Given the description of an element on the screen output the (x, y) to click on. 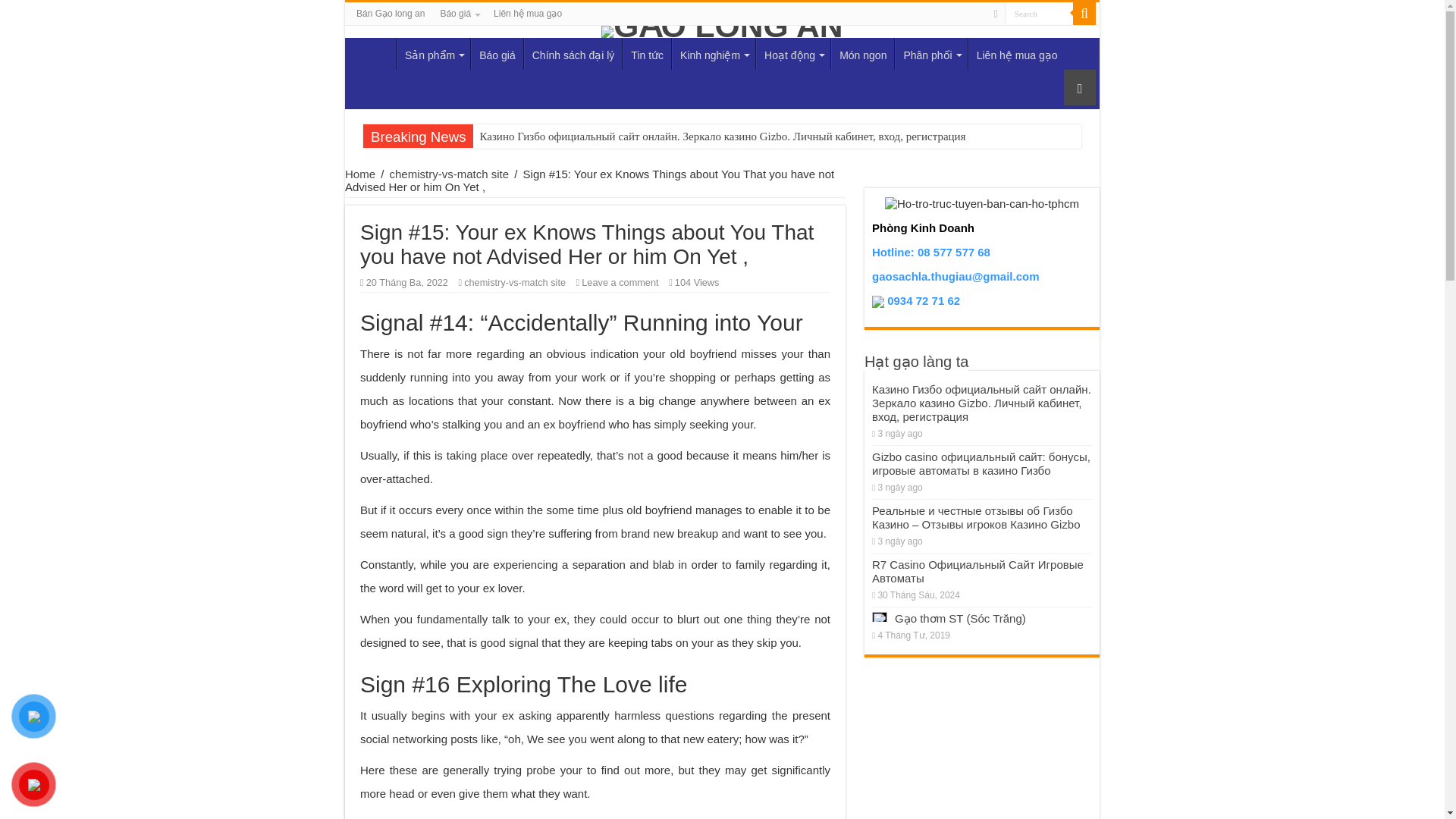
Search (1038, 13)
Random Article (1080, 87)
Search (1038, 13)
Search (1084, 13)
